Given the description of an element on the screen output the (x, y) to click on. 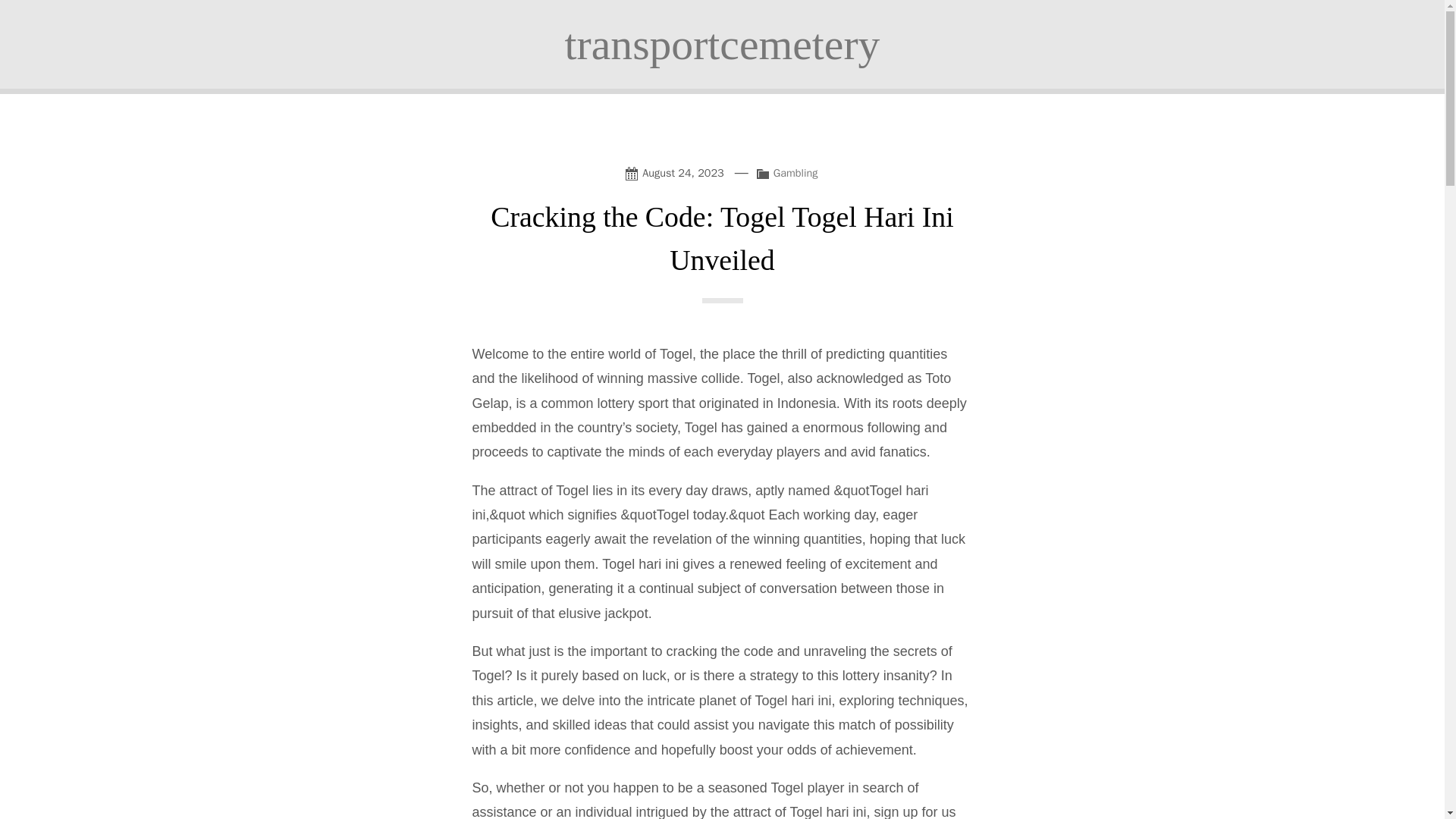
Gambling (795, 172)
transportcemetery (722, 43)
